Given the description of an element on the screen output the (x, y) to click on. 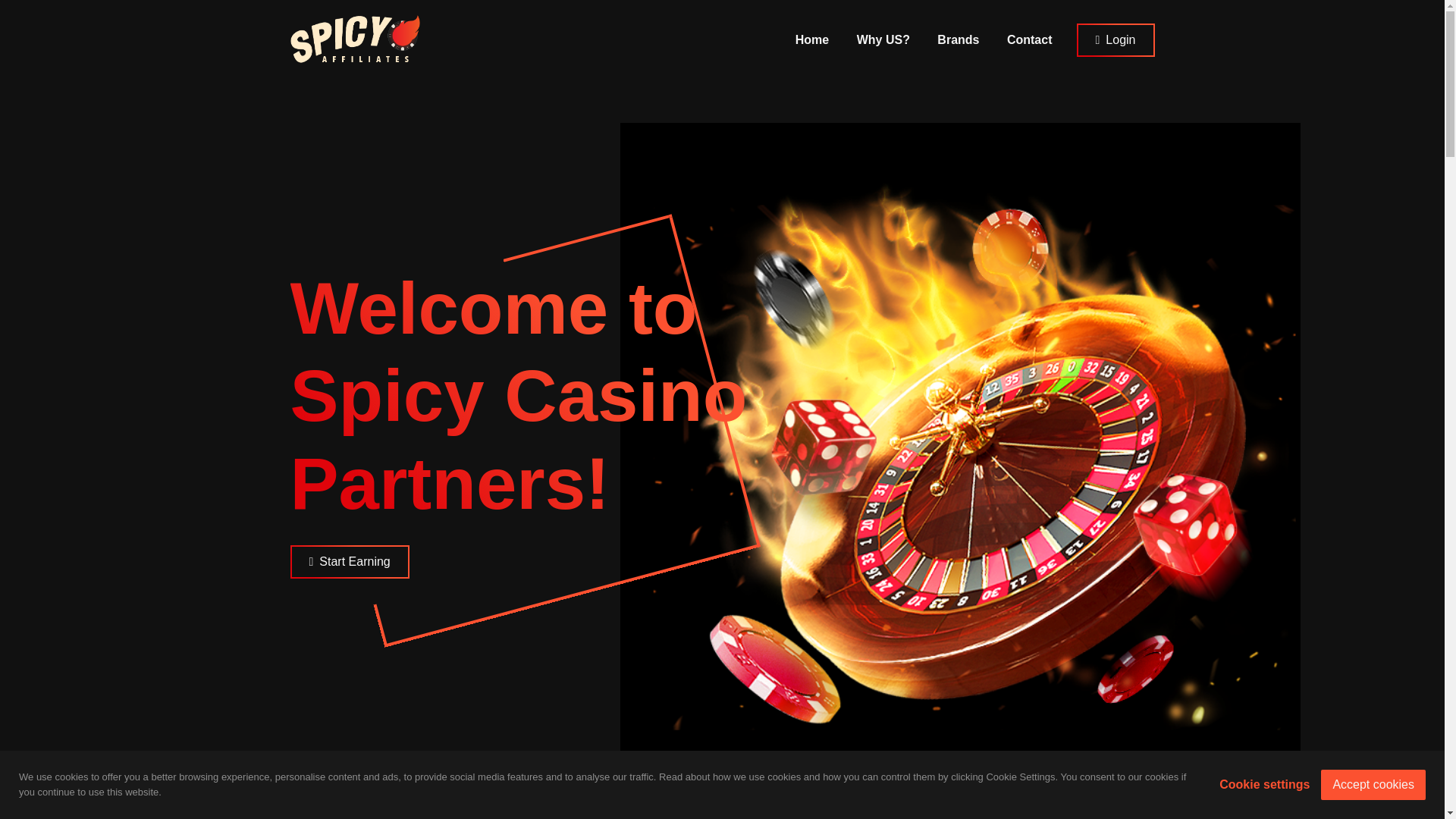
Why US? (882, 39)
Home (812, 39)
Login (1115, 39)
Contact (1029, 39)
Start Earning (349, 561)
Brands (957, 39)
